Given the description of an element on the screen output the (x, y) to click on. 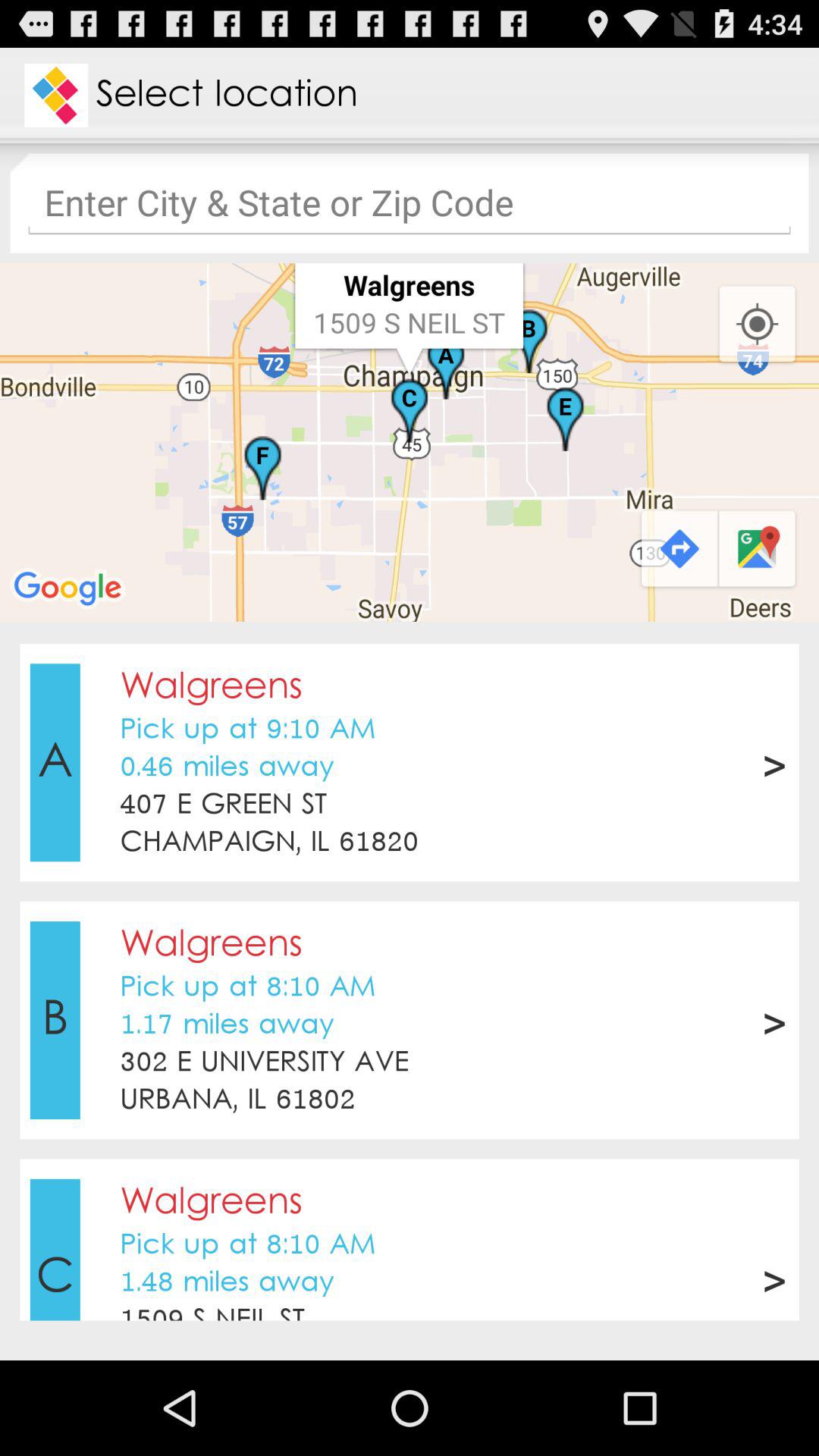
choose icon to the right of the a (223, 805)
